Given the description of an element on the screen output the (x, y) to click on. 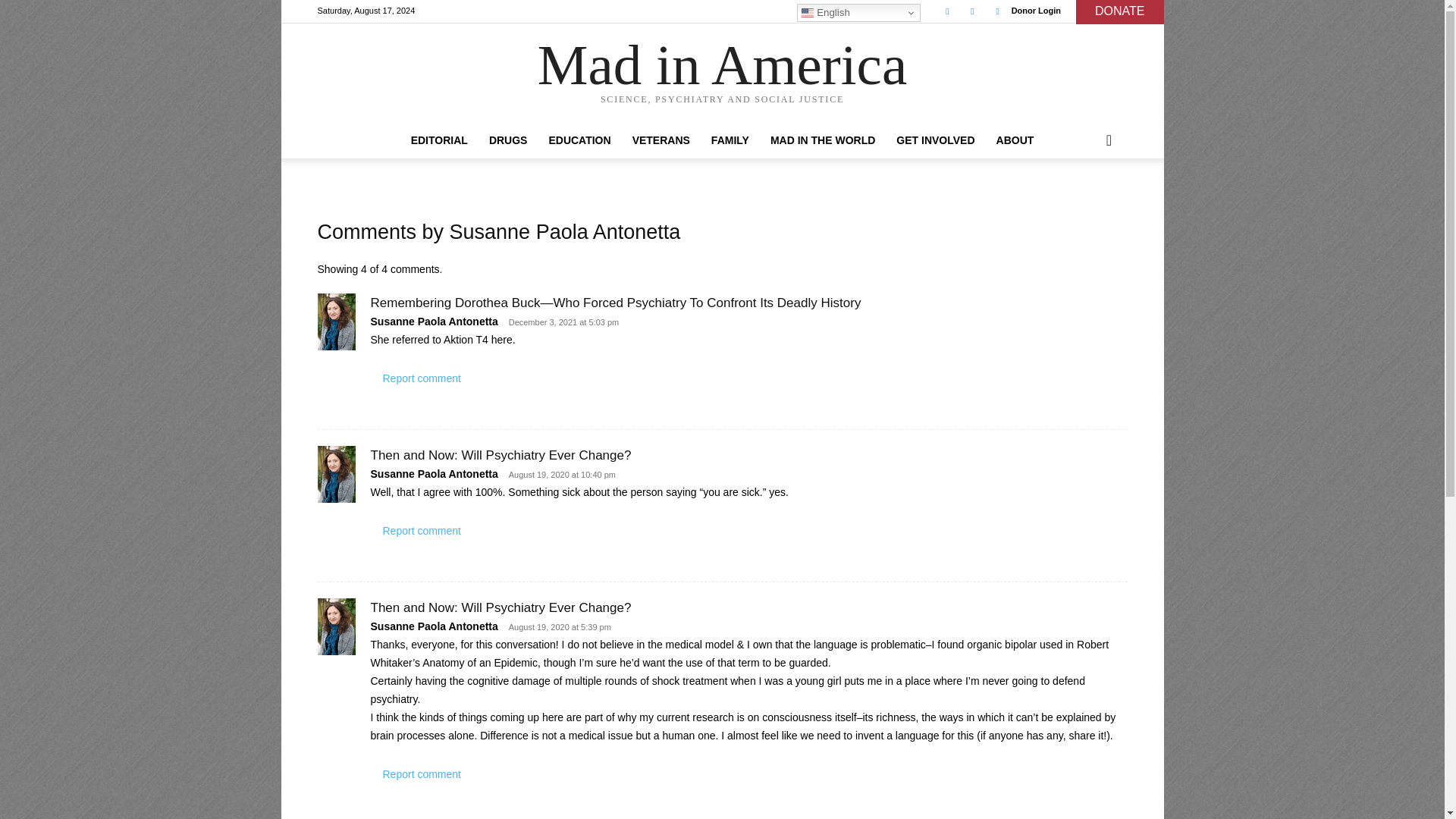
Youtube (998, 10)
Facebook (947, 10)
Twitter (972, 10)
